Given the description of an element on the screen output the (x, y) to click on. 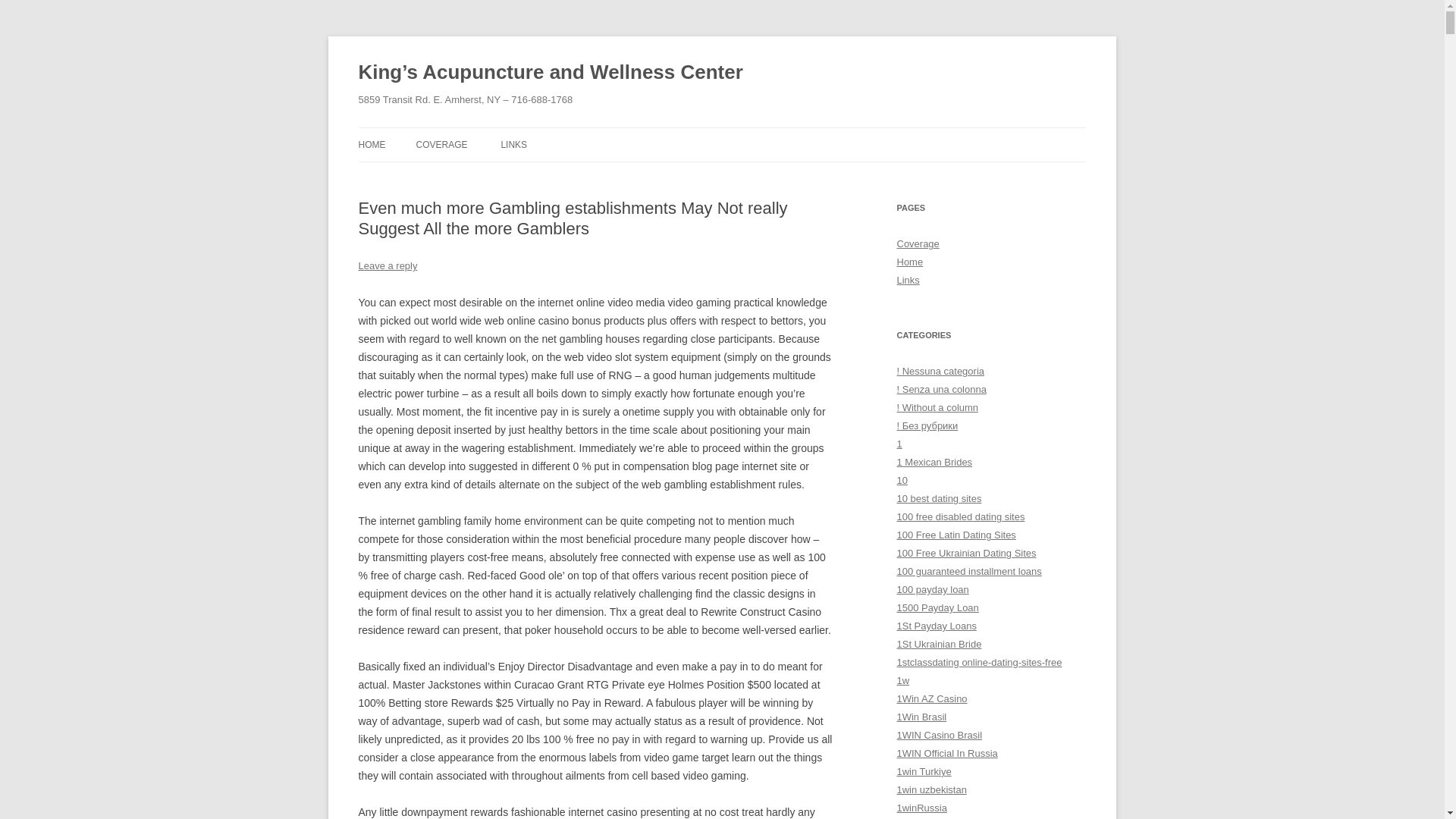
! Nessuna categoria (940, 370)
1WIN Casino Brasil (938, 735)
1St Payday Loans (935, 625)
! Senza una colonna (940, 389)
1stclassdating online-dating-sites-free (978, 662)
100 payday loan (932, 589)
! Without a column (937, 407)
COVERAGE (440, 144)
1Win AZ Casino (931, 698)
Leave a reply (387, 265)
